Given the description of an element on the screen output the (x, y) to click on. 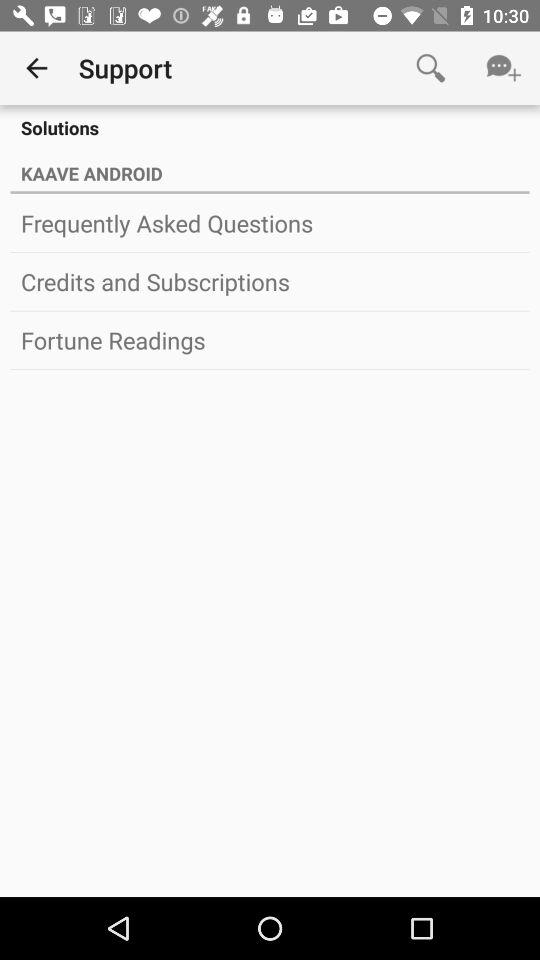
launch app next to support item (430, 67)
